Given the description of an element on the screen output the (x, y) to click on. 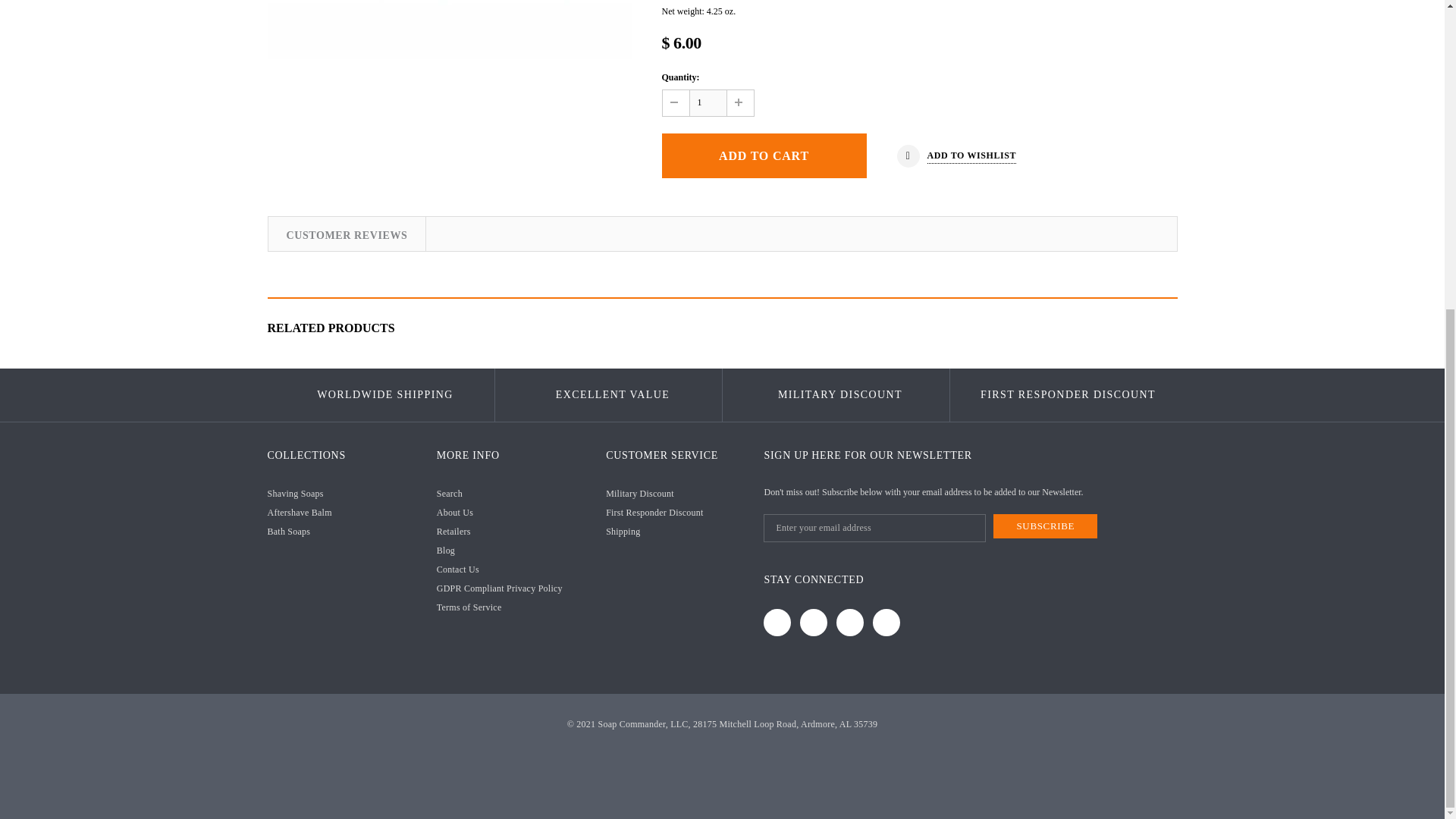
Add to Cart (763, 155)
1 (707, 103)
Add to wishlist (956, 155)
